Given the description of an element on the screen output the (x, y) to click on. 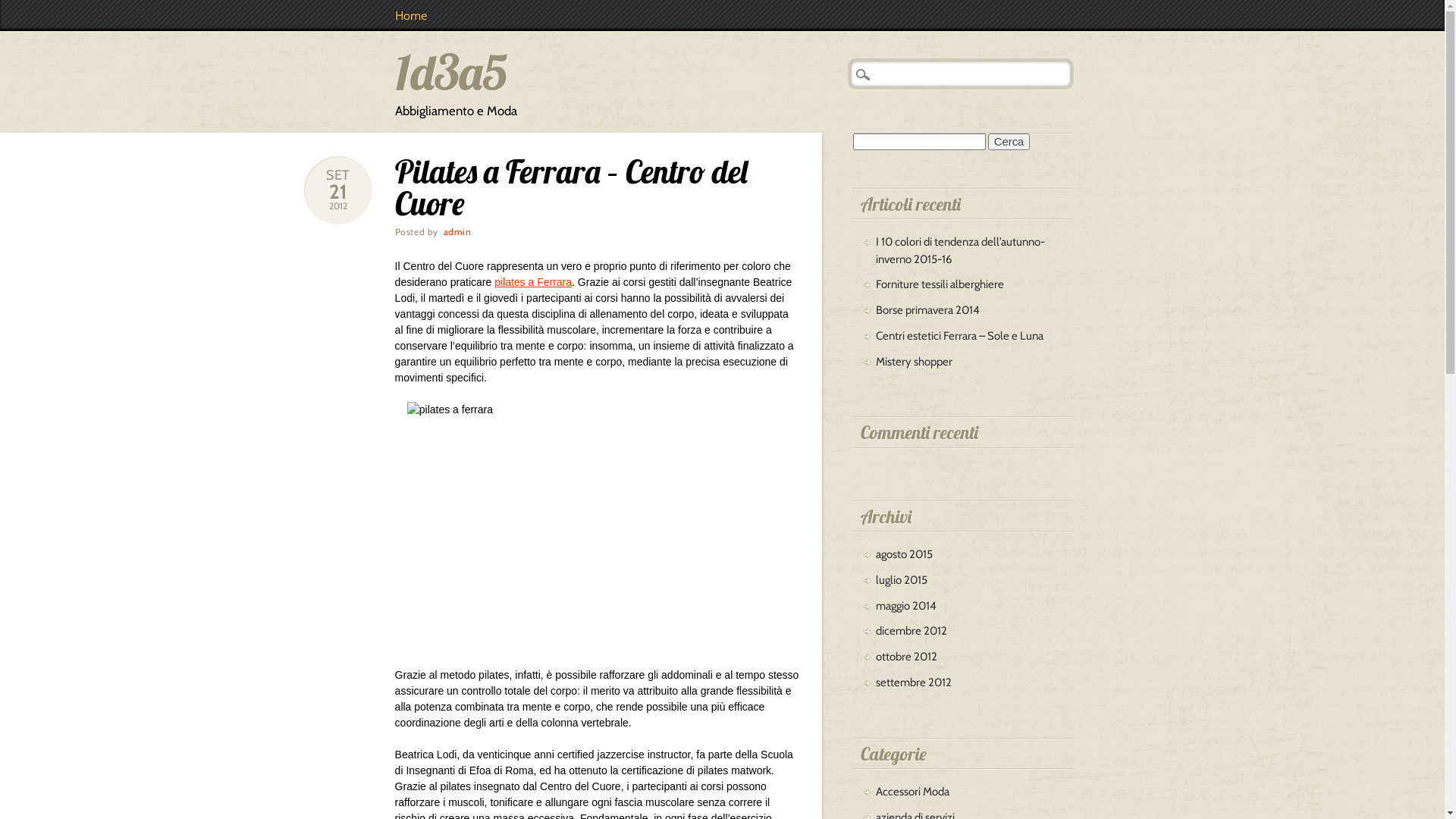
pilates a Ferrara Element type: text (532, 282)
2012 Element type: text (338, 205)
luglio 2015 Element type: text (901, 579)
maggio 2014 Element type: text (905, 605)
Cerca Element type: text (20, 8)
Mistery shopper Element type: text (913, 361)
pilates a ferrara Element type: hover (597, 526)
ottobre 2012 Element type: text (906, 656)
Home Element type: text (410, 15)
dicembre 2012 Element type: text (911, 630)
1d3a5 Element type: text (451, 71)
Accessori Moda Element type: text (912, 791)
Forniture tessili alberghiere Element type: text (939, 284)
agosto 2015 Element type: text (903, 554)
21 Element type: text (338, 191)
admin Element type: text (457, 231)
settembre 2012 Element type: text (913, 682)
Skip to content Element type: text (35, 7)
SET Element type: text (337, 174)
Cerca Element type: text (1009, 141)
Borse primavera 2014 Element type: text (927, 309)
